Given the description of an element on the screen output the (x, y) to click on. 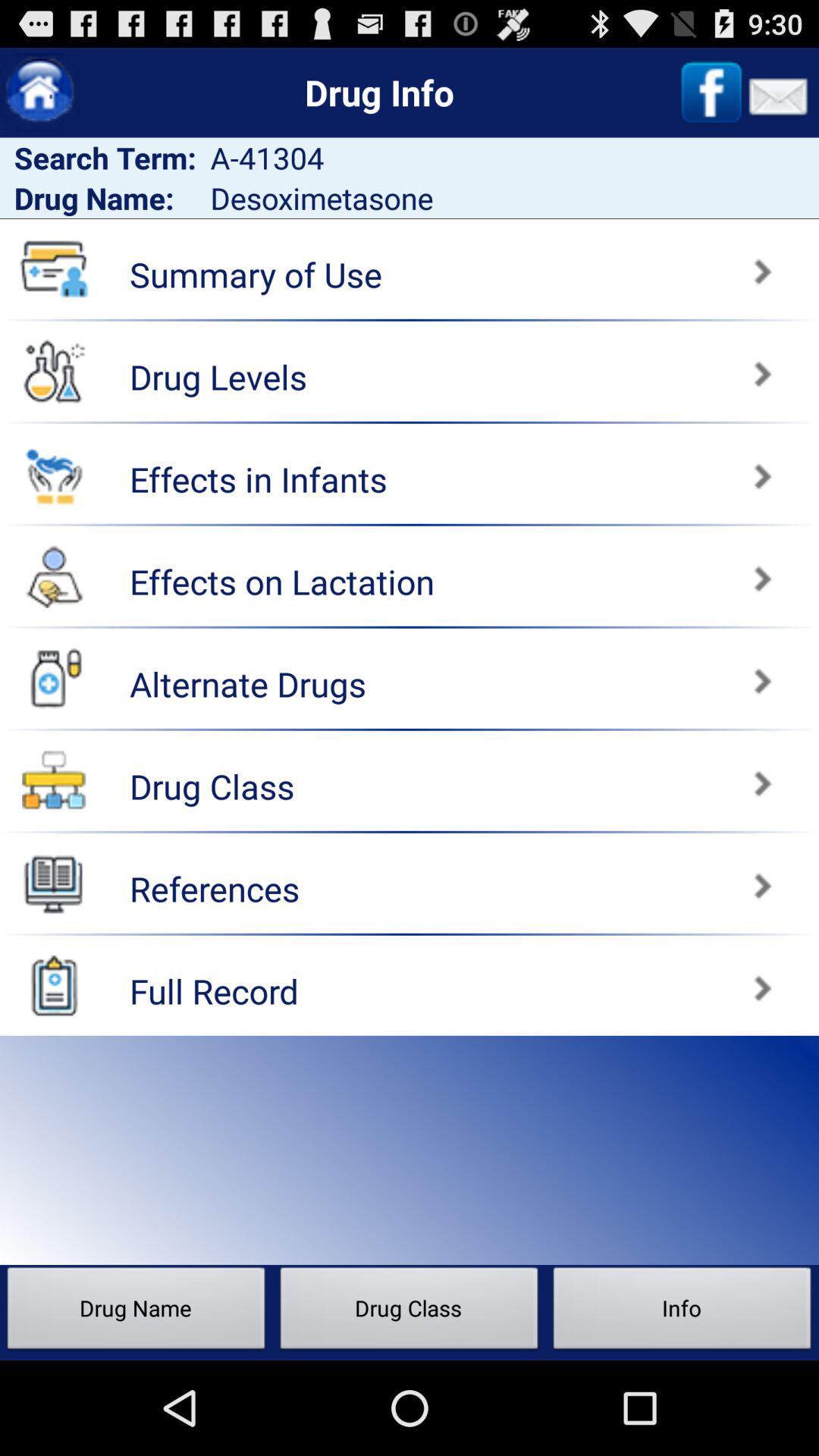
open summary (617, 264)
